Given the description of an element on the screen output the (x, y) to click on. 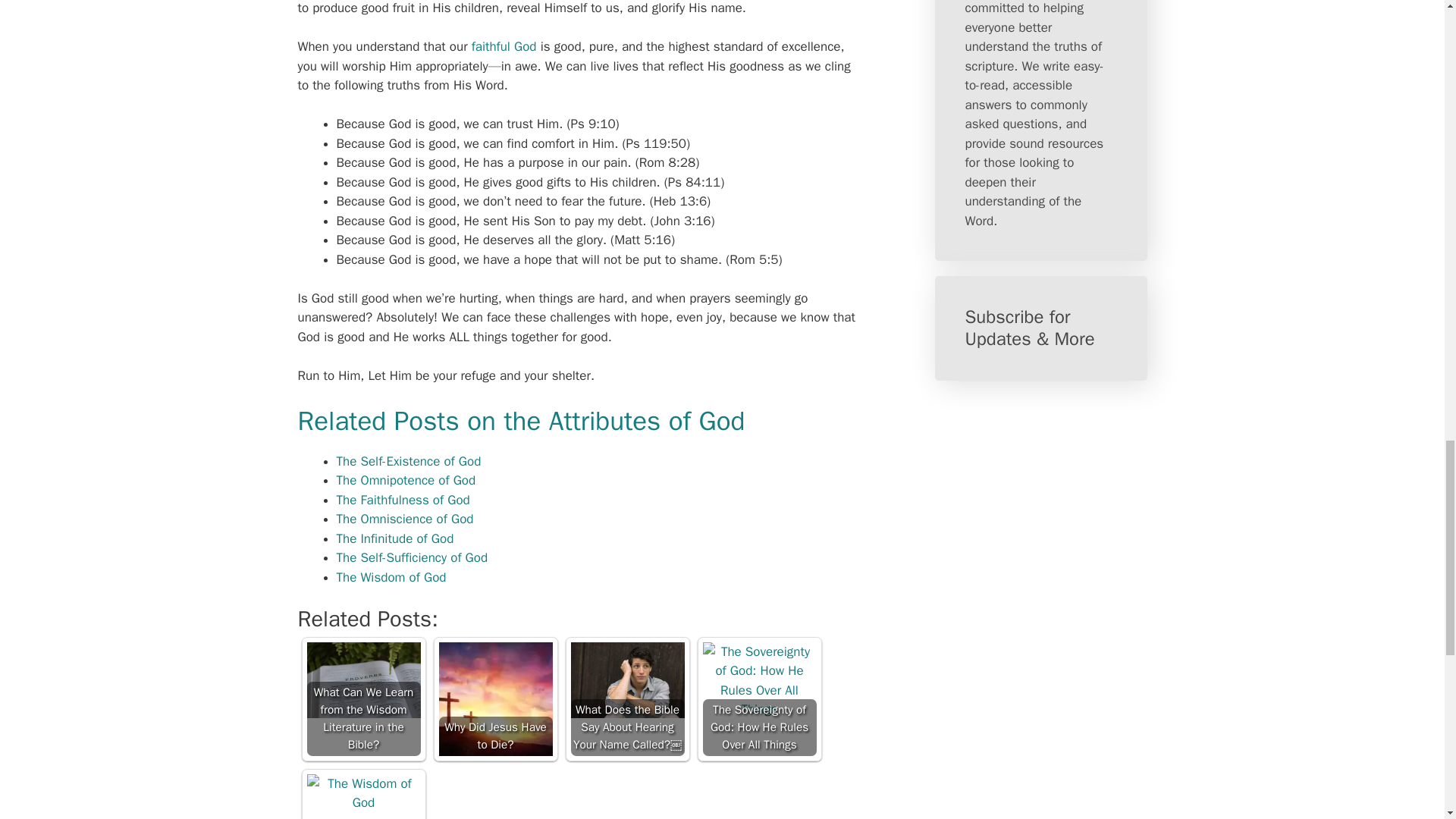
The Sovereignty of God: How He Rules Over All Things (758, 680)
Why Did Jesus Have to Die? (494, 698)
The Sovereignty of God: How He Rules Over All Things (758, 698)
The Self-Existence of God (408, 461)
What Can We Learn from the Wisdom Literature in the Bible? (362, 698)
Why Did Jesus Have to Die? (494, 698)
The Wisdom of God (362, 793)
What Can We Learn from the Wisdom Literature in the Bible? (362, 680)
The Self-Sufficiency of God (411, 557)
The Omnipotence of God (406, 480)
